Given the description of an element on the screen output the (x, y) to click on. 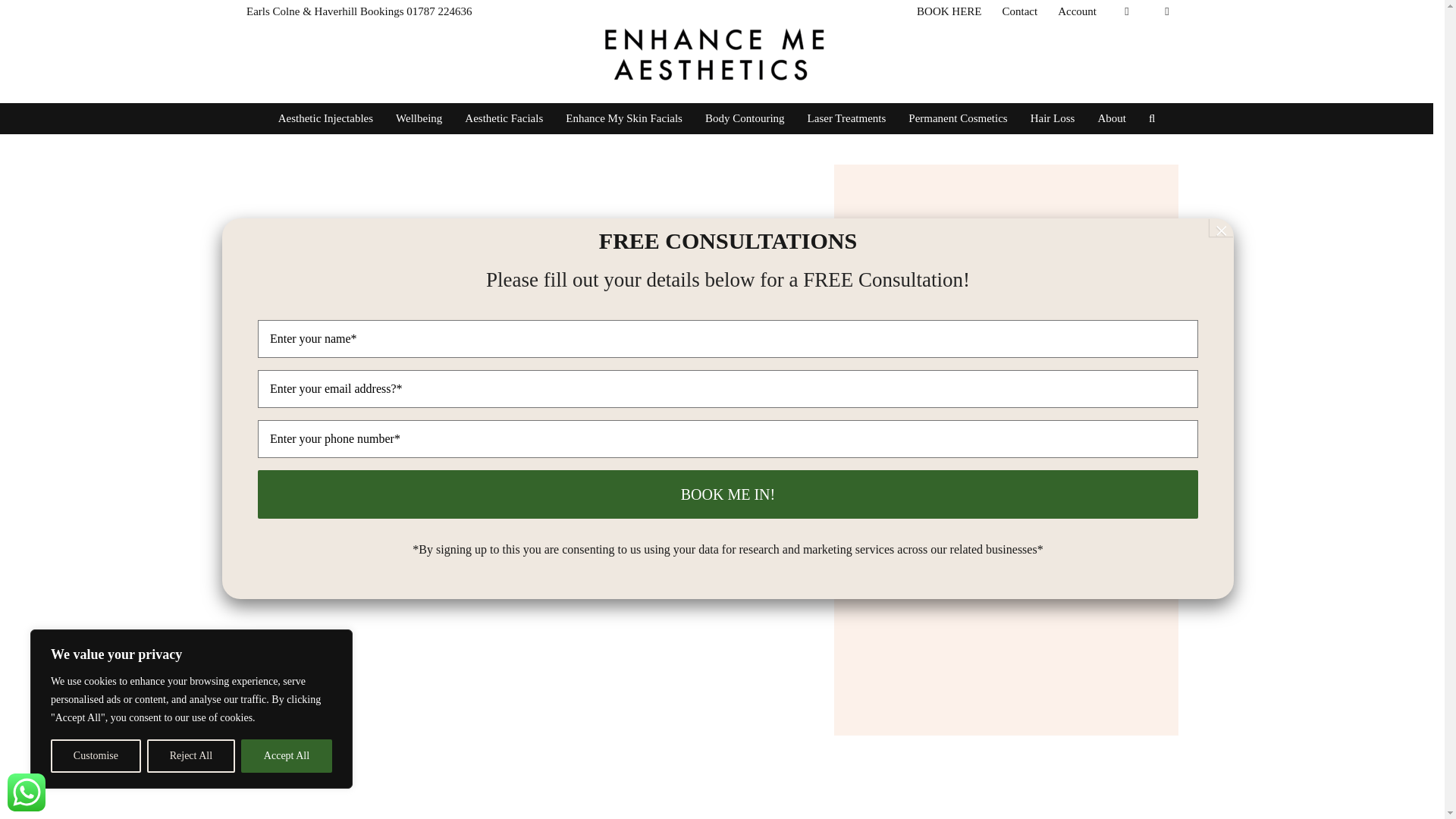
Contact (1020, 11)
Account (1077, 11)
Search (1151, 118)
Customise (95, 756)
Reject All (190, 756)
BOOK HERE (949, 11)
01787 224636 (438, 10)
Aesthetic Injectables (325, 118)
Accept All (286, 756)
WHATSAPP US (26, 792)
Book me in! (727, 494)
